Given the description of an element on the screen output the (x, y) to click on. 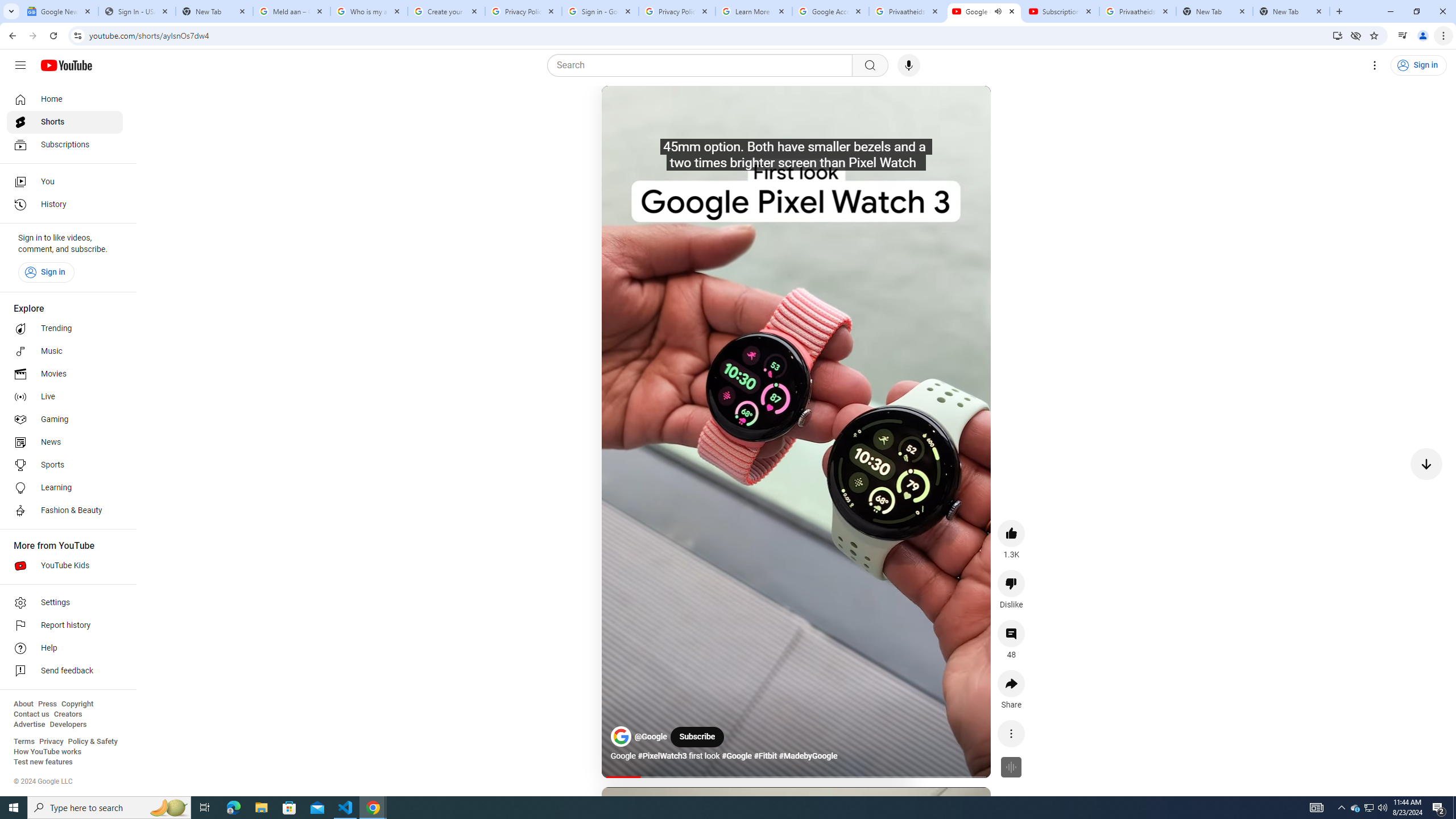
Policy & Safety (91, 741)
View 48 comments (1011, 633)
Learning (64, 487)
Gaming (64, 419)
Subscriptions (64, 144)
Send feedback (64, 671)
Google Account (830, 11)
